Given the description of an element on the screen output the (x, y) to click on. 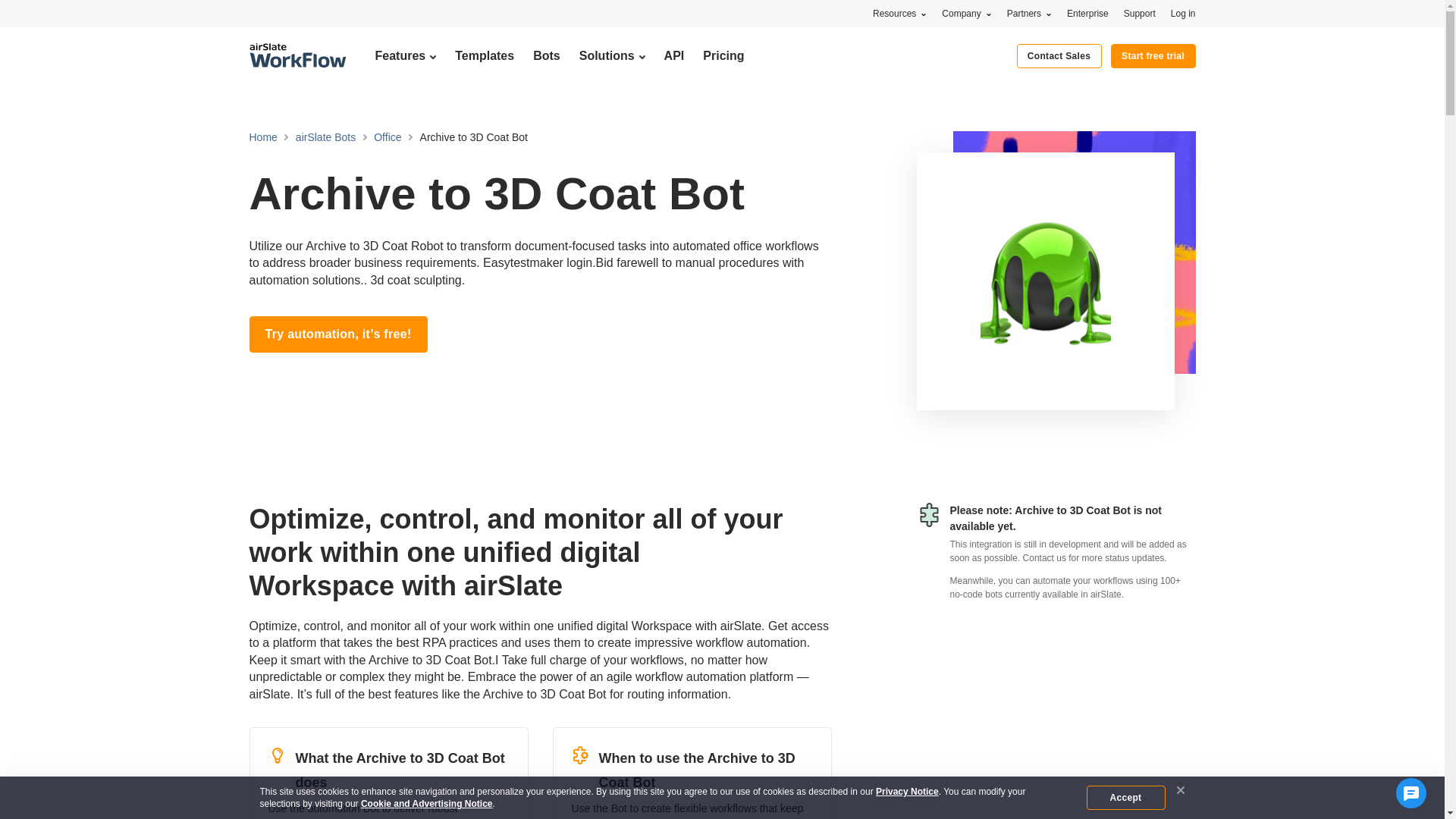
Templates (483, 55)
Partners (1029, 13)
Resources (899, 13)
Log in (1182, 13)
Enterprise (1087, 13)
Company (966, 13)
Support (1140, 13)
